Given the description of an element on the screen output the (x, y) to click on. 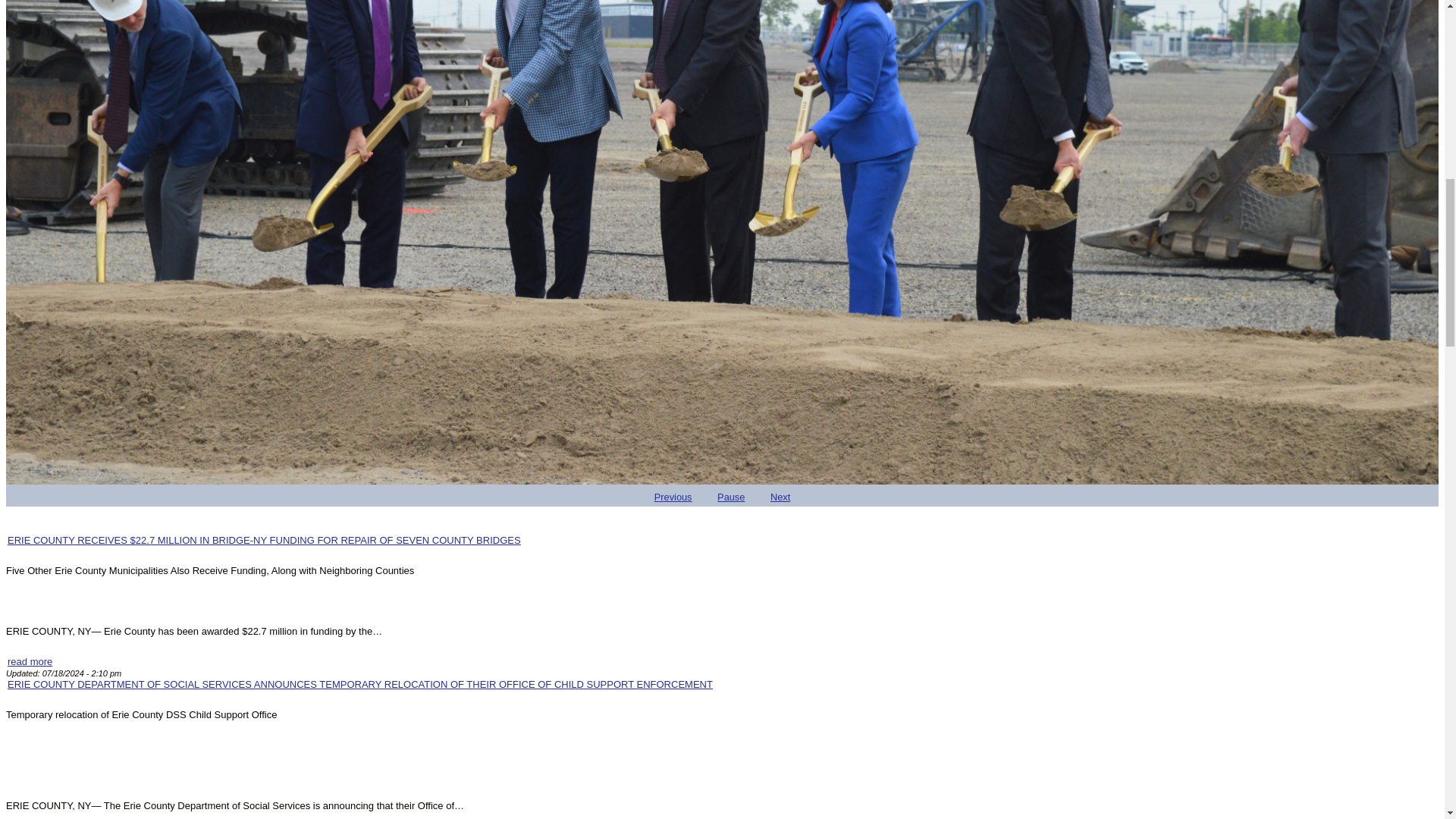
Previous (673, 496)
Pause (730, 496)
Next (780, 496)
read more (29, 661)
